Given the description of an element on the screen output the (x, y) to click on. 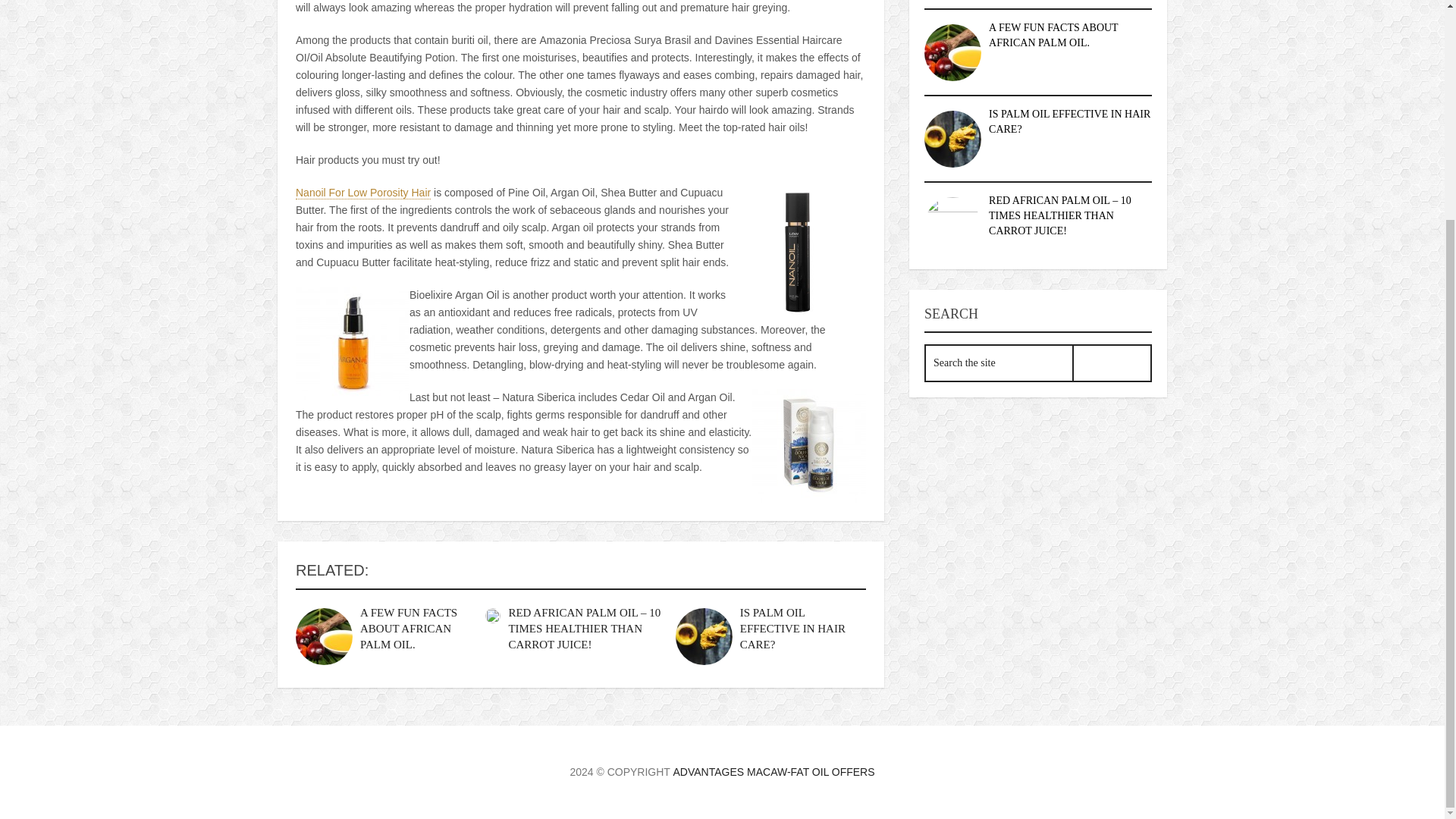
Is Palm Oil Effective In Hair Care? (703, 636)
IS PALM OIL EFFECTIVE IN HAIR CARE? (792, 628)
A few fun facts about African palm oil. (408, 628)
Search (1111, 362)
ADVANTAGES MACAW-FAT OIL OFFERS (773, 771)
Search (1111, 362)
IS PALM OIL EFFECTIVE IN HAIR CARE? (1069, 121)
A FEW FUN FACTS ABOUT AFRICAN PALM OIL. (408, 628)
A FEW FUN FACTS ABOUT AFRICAN PALM OIL. (1053, 35)
Nanoil For Low Porosity Hair (362, 192)
